Given the description of an element on the screen output the (x, y) to click on. 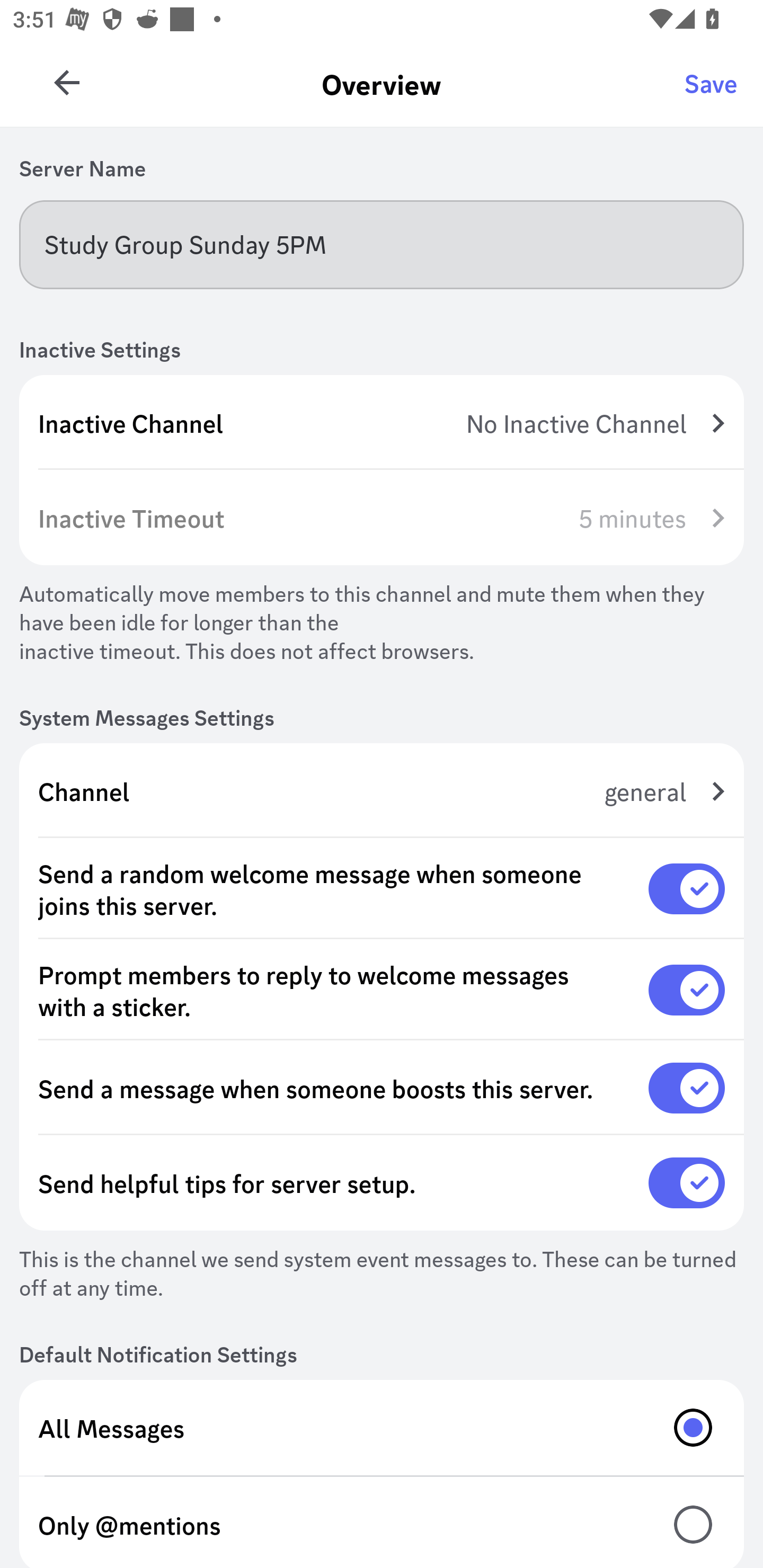
  Study Group SG (66, 75)
Save (710, 82)
Study Group Sunday 5PM (381, 244)
Channel, general Channel general (381, 790)
on (686, 888)
on (686, 990)
on (686, 1088)
on (686, 1182)
All Messages (381, 1427)
Only @mentions (381, 1522)
